Given the description of an element on the screen output the (x, y) to click on. 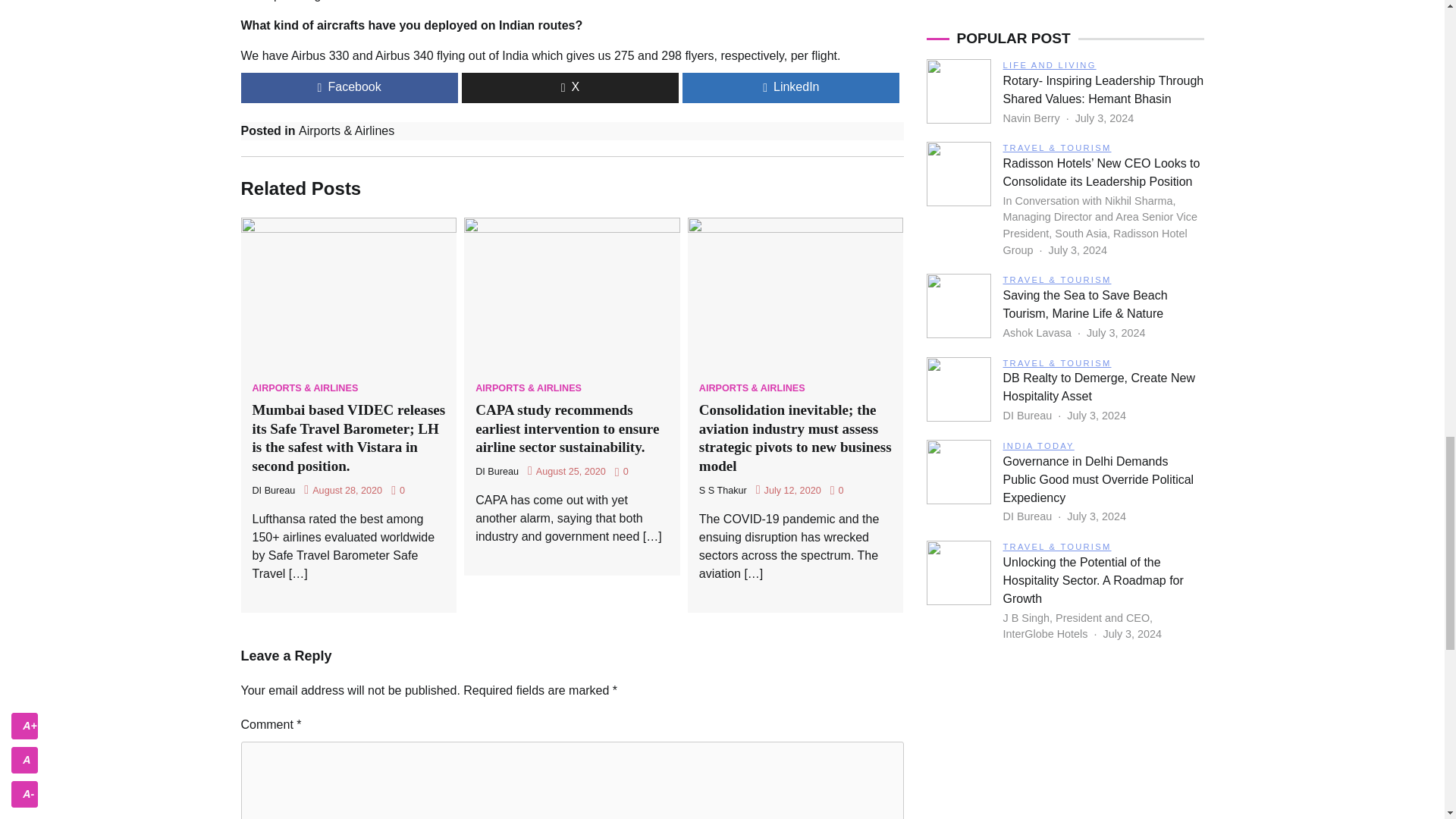
X (569, 87)
Facebook (349, 87)
LinkedIn (790, 87)
DI Bureau (497, 471)
S S Thakur (722, 490)
DI Bureau (273, 490)
